Given the description of an element on the screen output the (x, y) to click on. 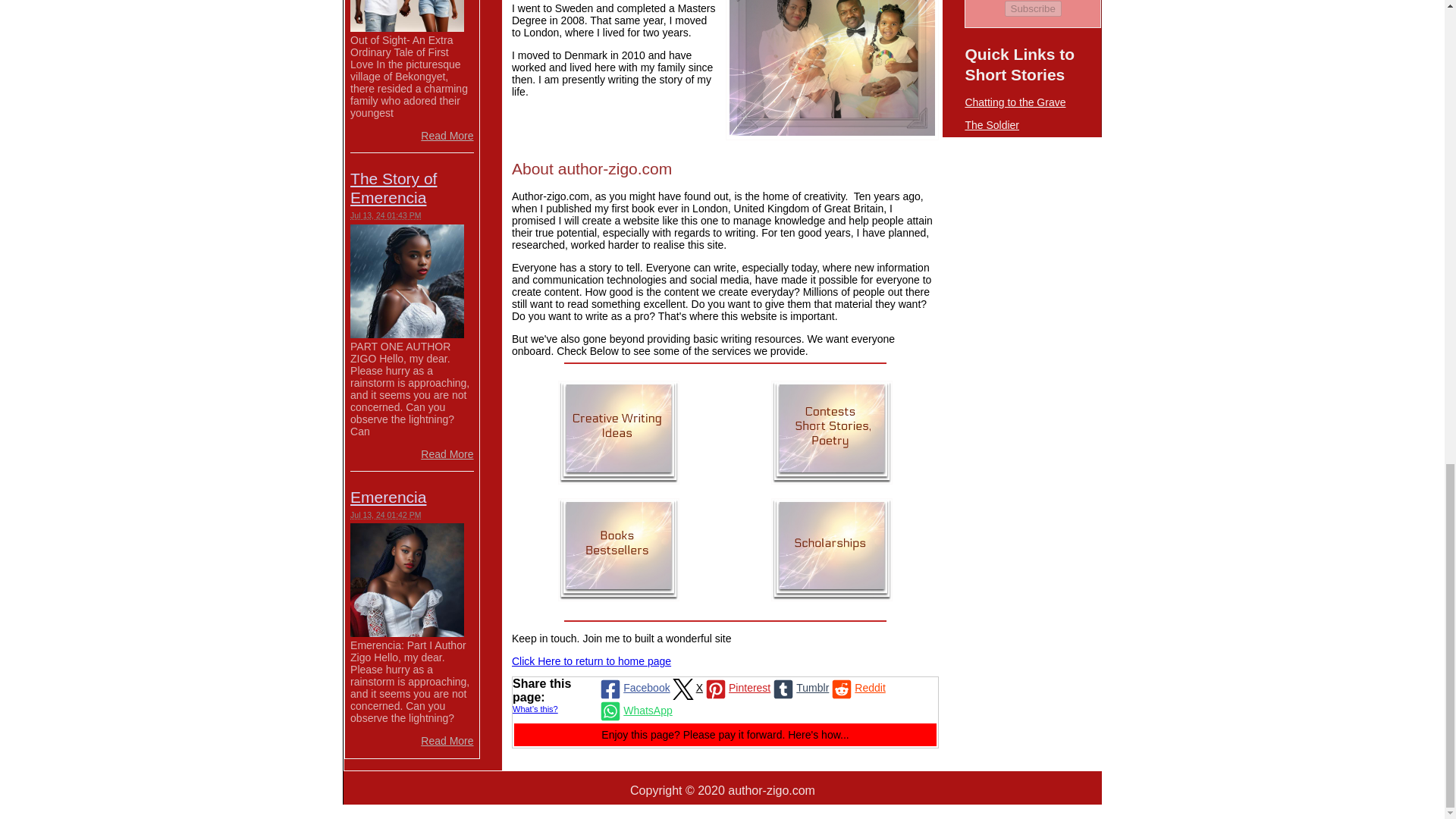
Click Here to return to home page (591, 661)
WhatsApp (634, 710)
2024-07-13T13:43:37-0400 (385, 215)
Facebook (632, 688)
2024-07-13T13:42:18-0400 (385, 514)
Tumblr (799, 688)
Reddit (856, 688)
X (686, 688)
Pinterest (736, 688)
